Given the description of an element on the screen output the (x, y) to click on. 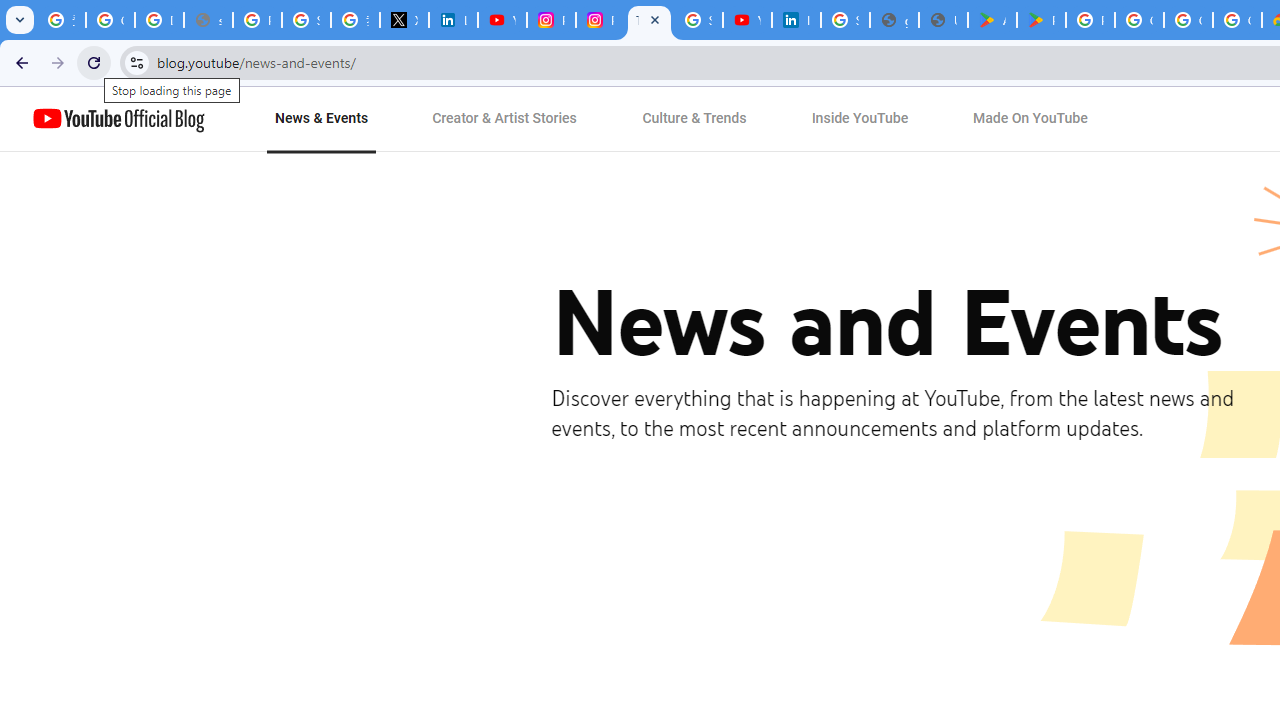
Creator & Artist Stories (505, 119)
Sign in - Google Accounts (698, 20)
Sign in - Google Accounts (306, 20)
Android Apps on Google Play (992, 20)
PAW Patrol Rescue World - Apps on Google Play (1041, 20)
Google Workspace - Specific Terms (1188, 20)
YouTube Content Monetization Policies - How YouTube Works (502, 20)
